Given the description of an element on the screen output the (x, y) to click on. 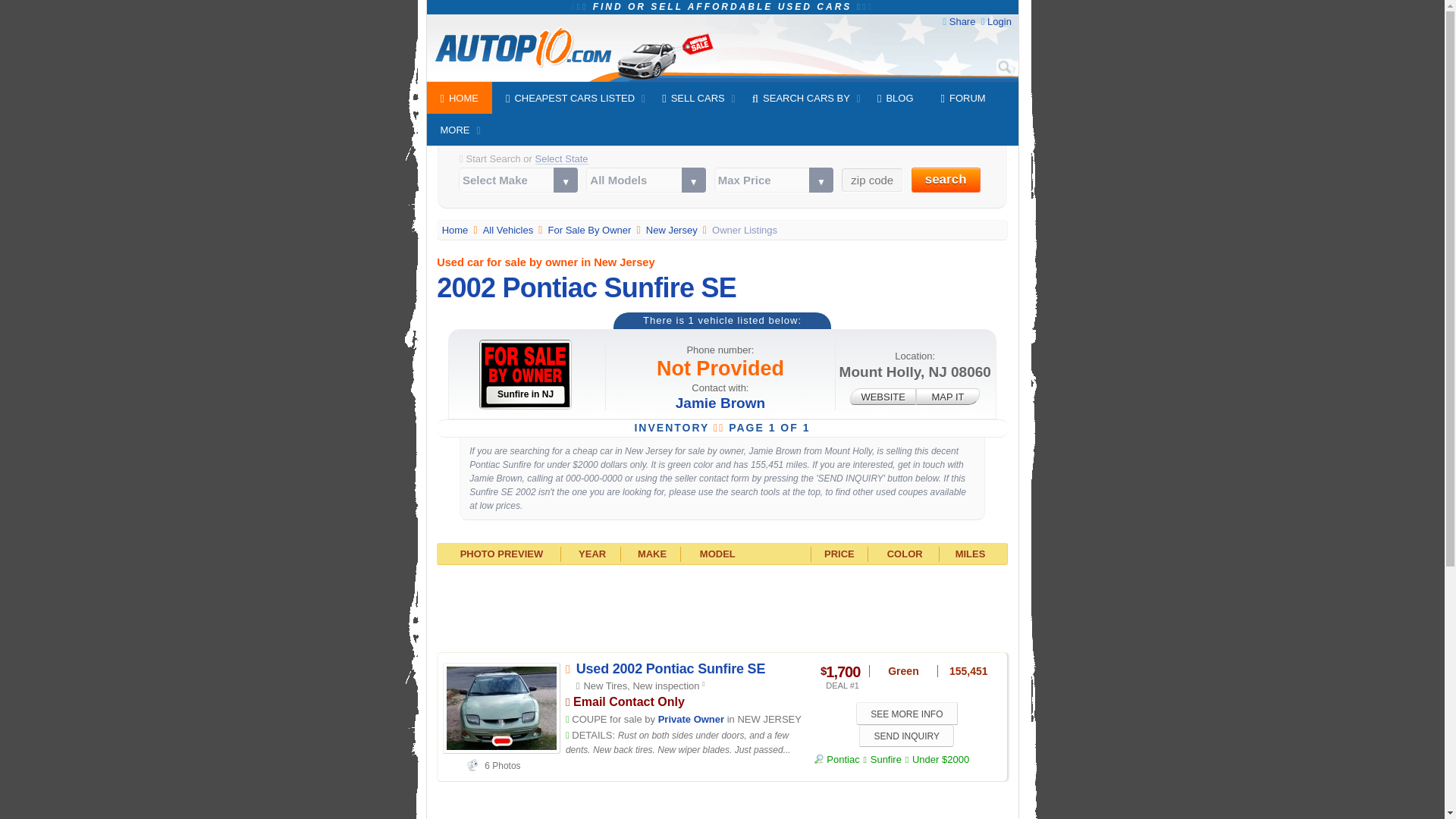
Login (999, 21)
HOME (459, 97)
SEND INQUIRY (906, 735)
Pontiac (836, 758)
Search (1004, 66)
Private Owner (690, 718)
MORE (454, 129)
BLOG (895, 97)
SEE MORE INFO (907, 712)
Advertisement (721, 606)
